Given the description of an element on the screen output the (x, y) to click on. 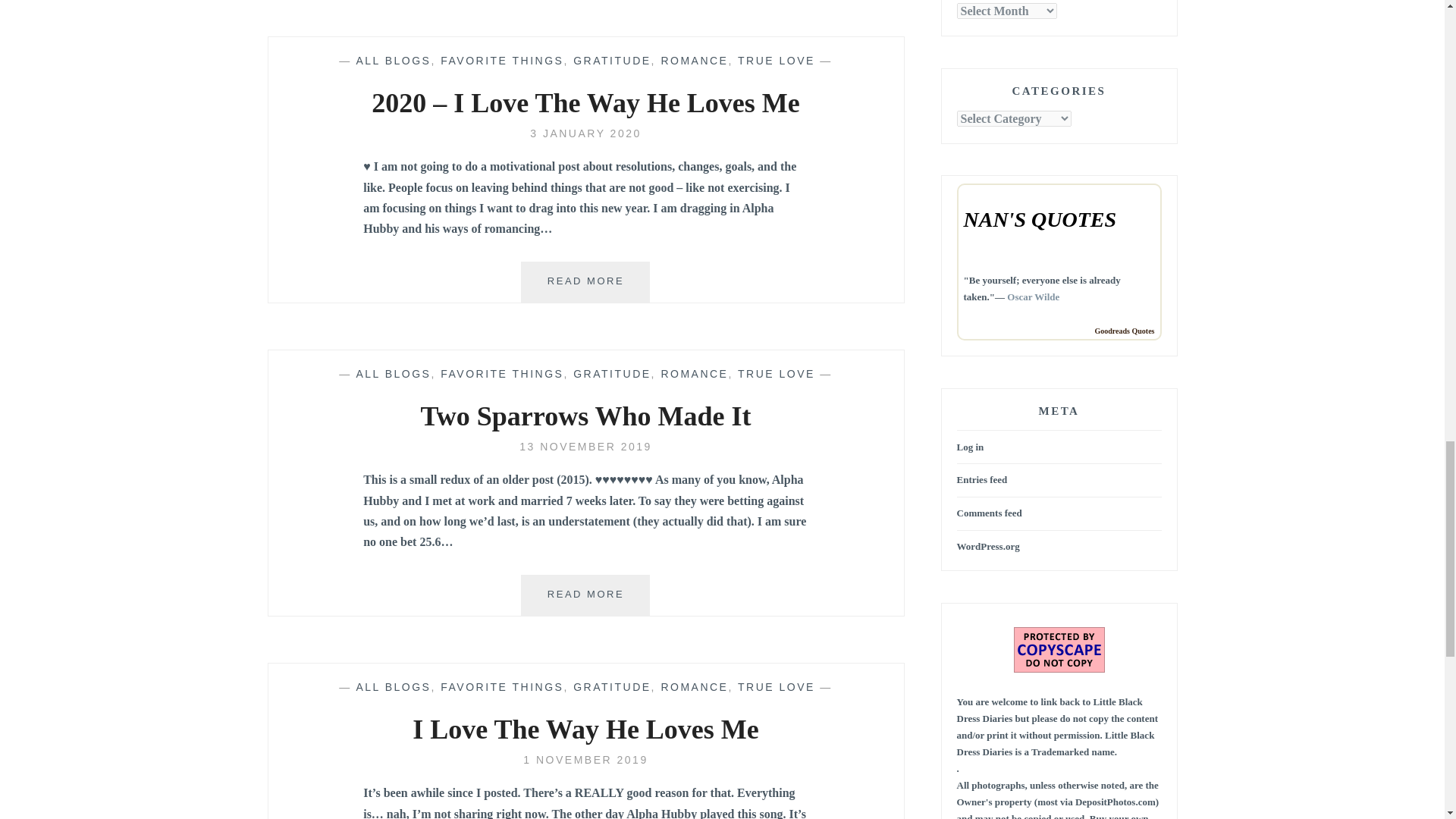
ALL BLOGS (392, 60)
I Love The Way He Loves Me (584, 759)
Two Sparrows Who Made It (585, 446)
FAVORITE THINGS (502, 60)
Oscar Wilde quotes (1033, 297)
